Given the description of an element on the screen output the (x, y) to click on. 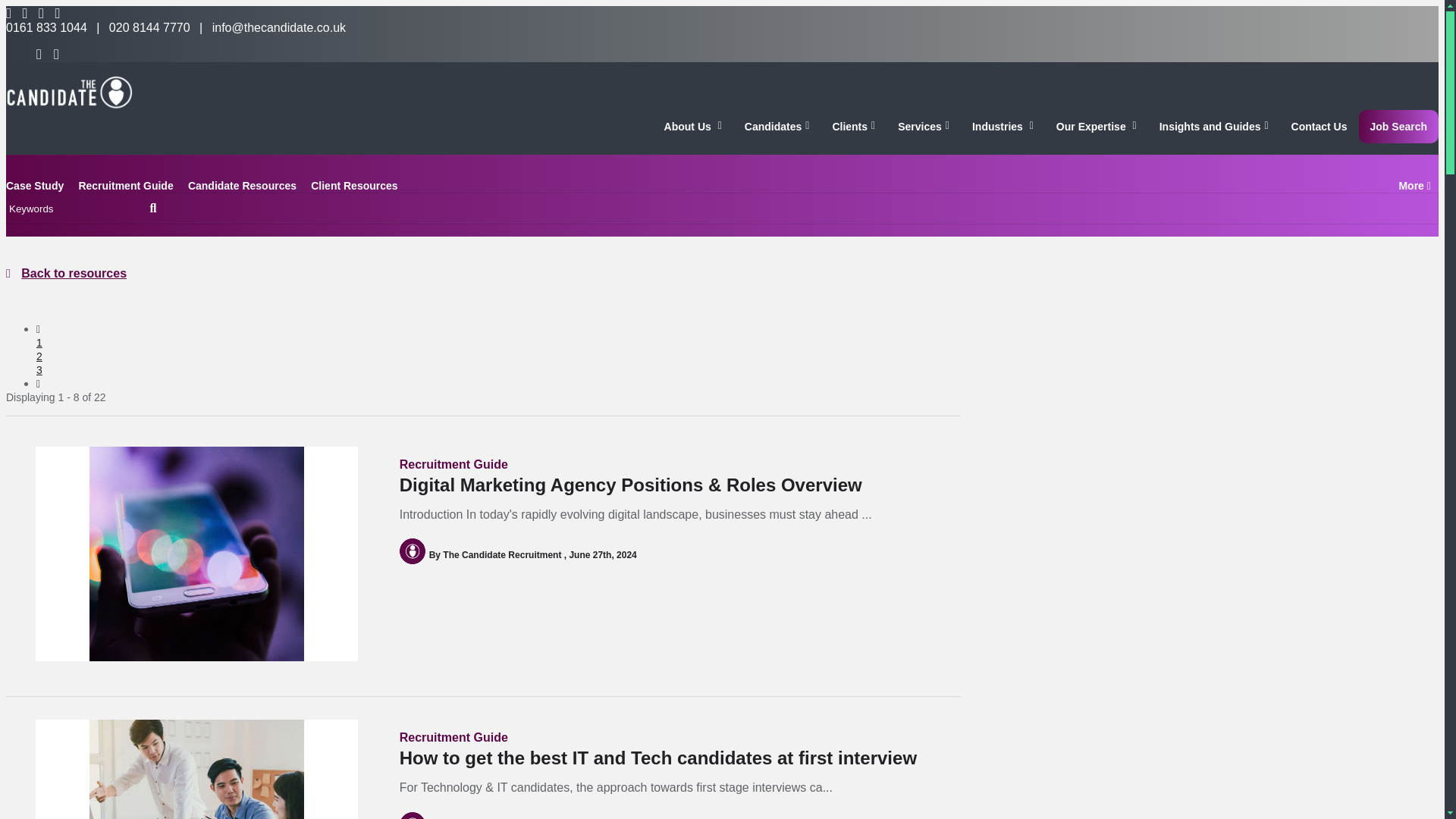
Industries (1002, 126)
Clients (853, 126)
Services (923, 126)
Candidates (777, 126)
About Us (692, 126)
0161 833 1044 (46, 27)
020 8144 7770 (149, 27)
